Given the description of an element on the screen output the (x, y) to click on. 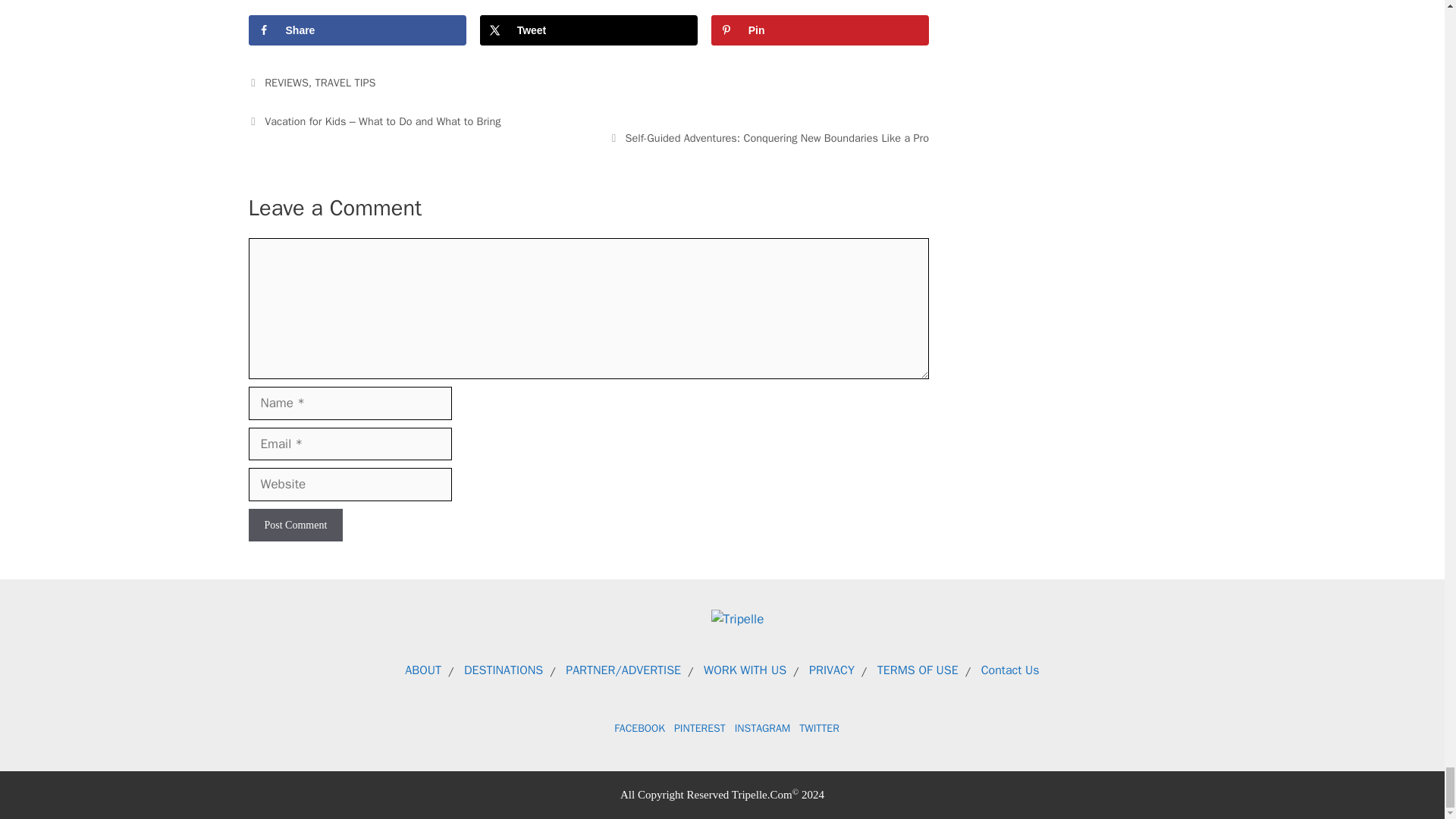
Post Comment (295, 524)
Share on X (588, 30)
Share on Facebook (356, 30)
Save to Pinterest (819, 30)
Tripelle (737, 618)
